Given the description of an element on the screen output the (x, y) to click on. 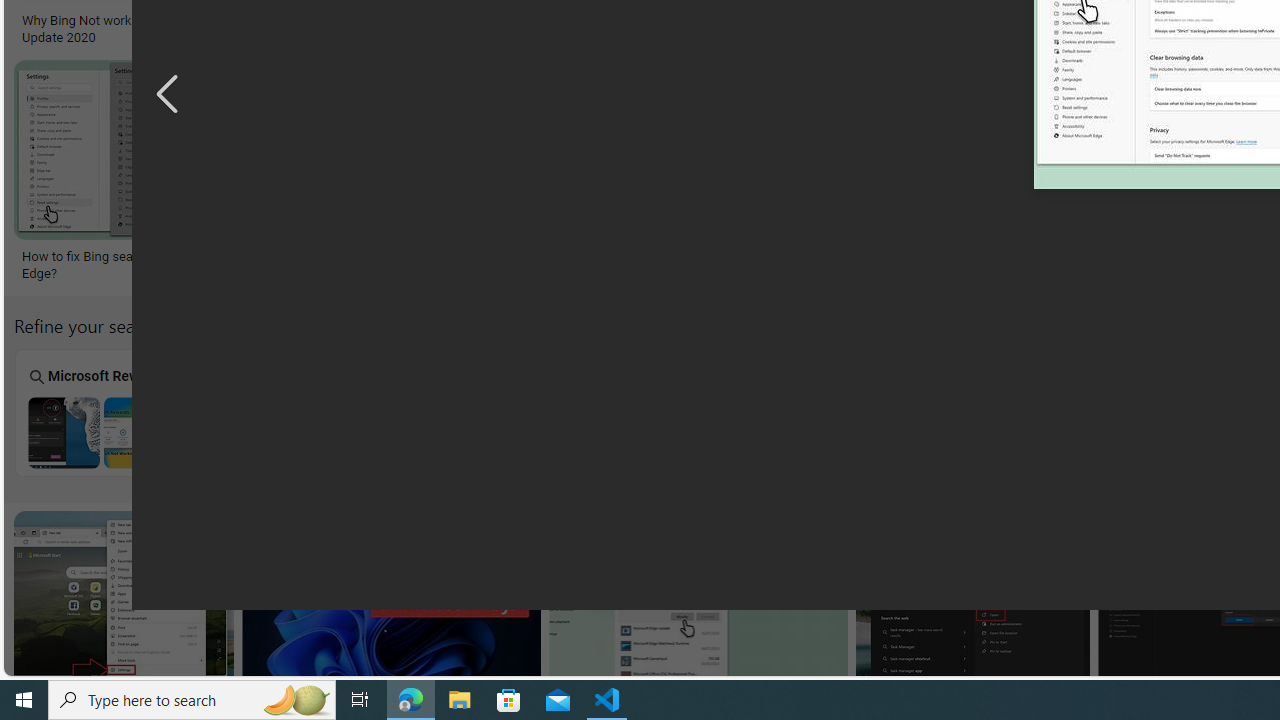
Points (821, 412)
Bing Search Points Not Working (821, 432)
Bing Search Not Working On My Tablet My Tablet (281, 412)
Properly (1002, 412)
Why Bing Not working on windows 10? Update 2020 (135, 29)
Bing Search Not Working Properly (1002, 432)
Bing Search Points Not Working Points (821, 412)
